Given the description of an element on the screen output the (x, y) to click on. 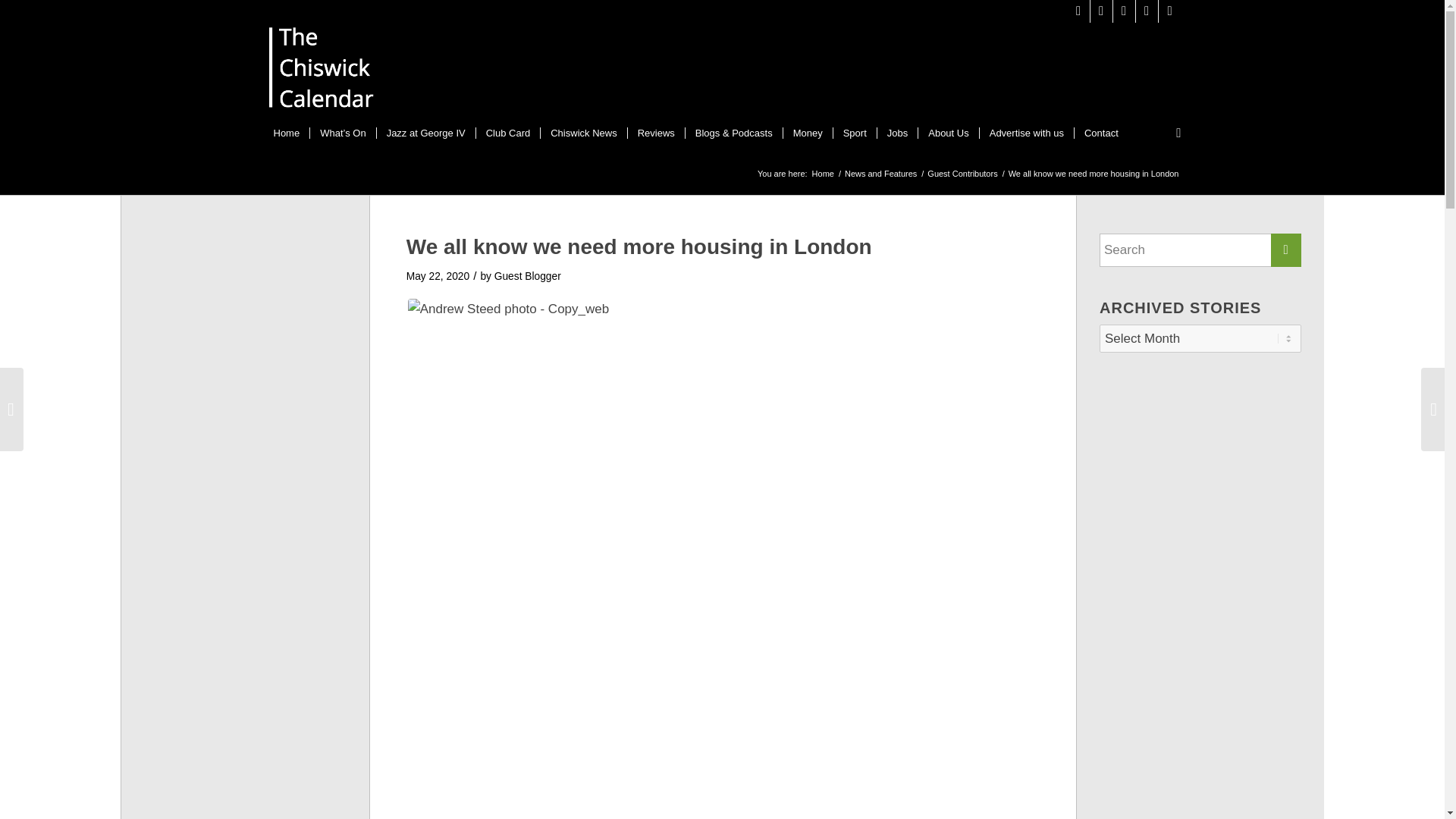
Instagram (1101, 11)
Mail (1169, 11)
X (1078, 11)
TCC-white-on-white (321, 70)
Home (286, 133)
Facebook (1124, 11)
The Chiswick Calendar (822, 173)
Club Card (508, 133)
Youtube (1146, 11)
Posts by Guest Blogger (527, 276)
Jazz at George IV (425, 133)
